Given the description of an element on the screen output the (x, y) to click on. 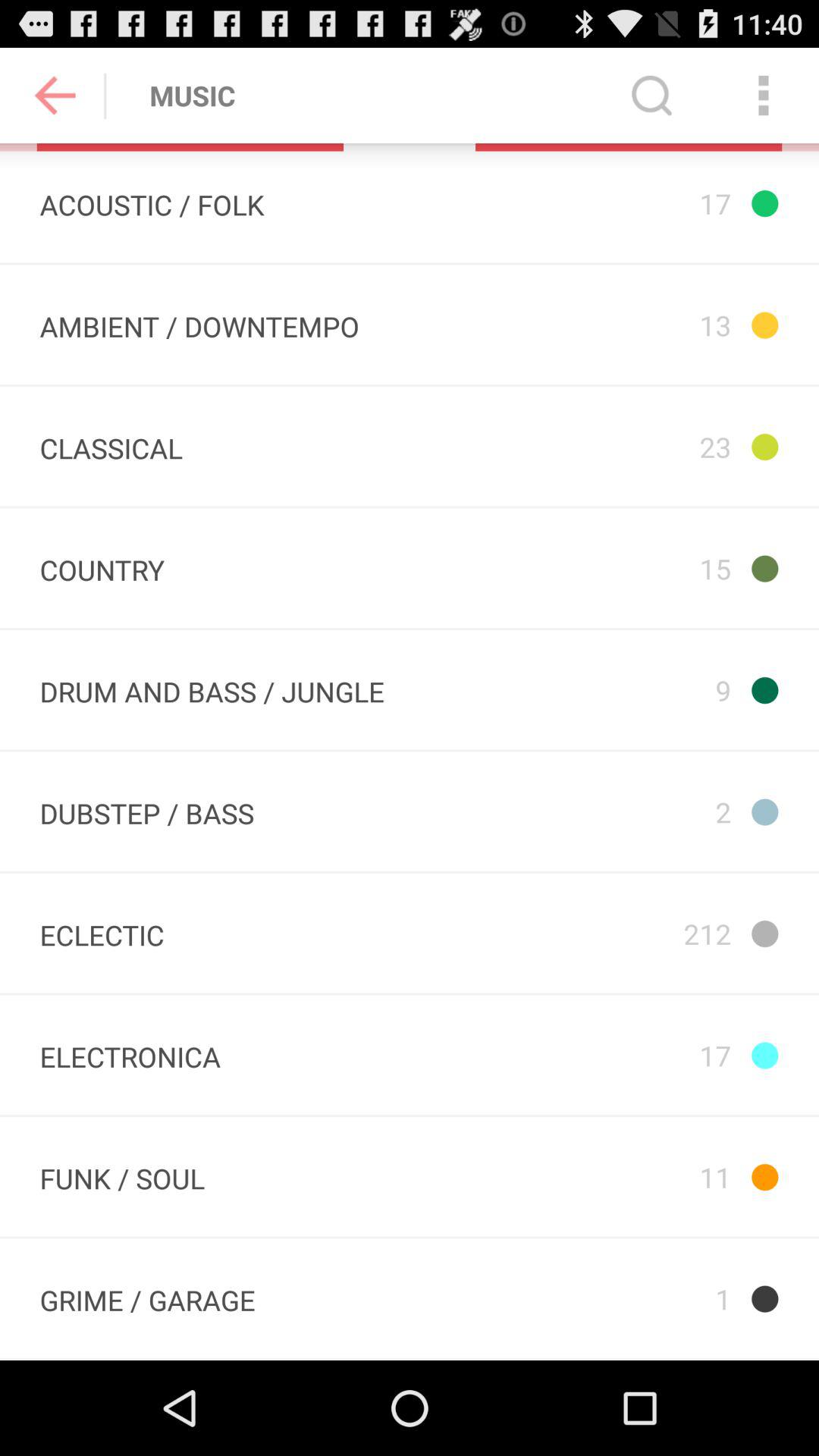
flip until 2 item (627, 811)
